Given the description of an element on the screen output the (x, y) to click on. 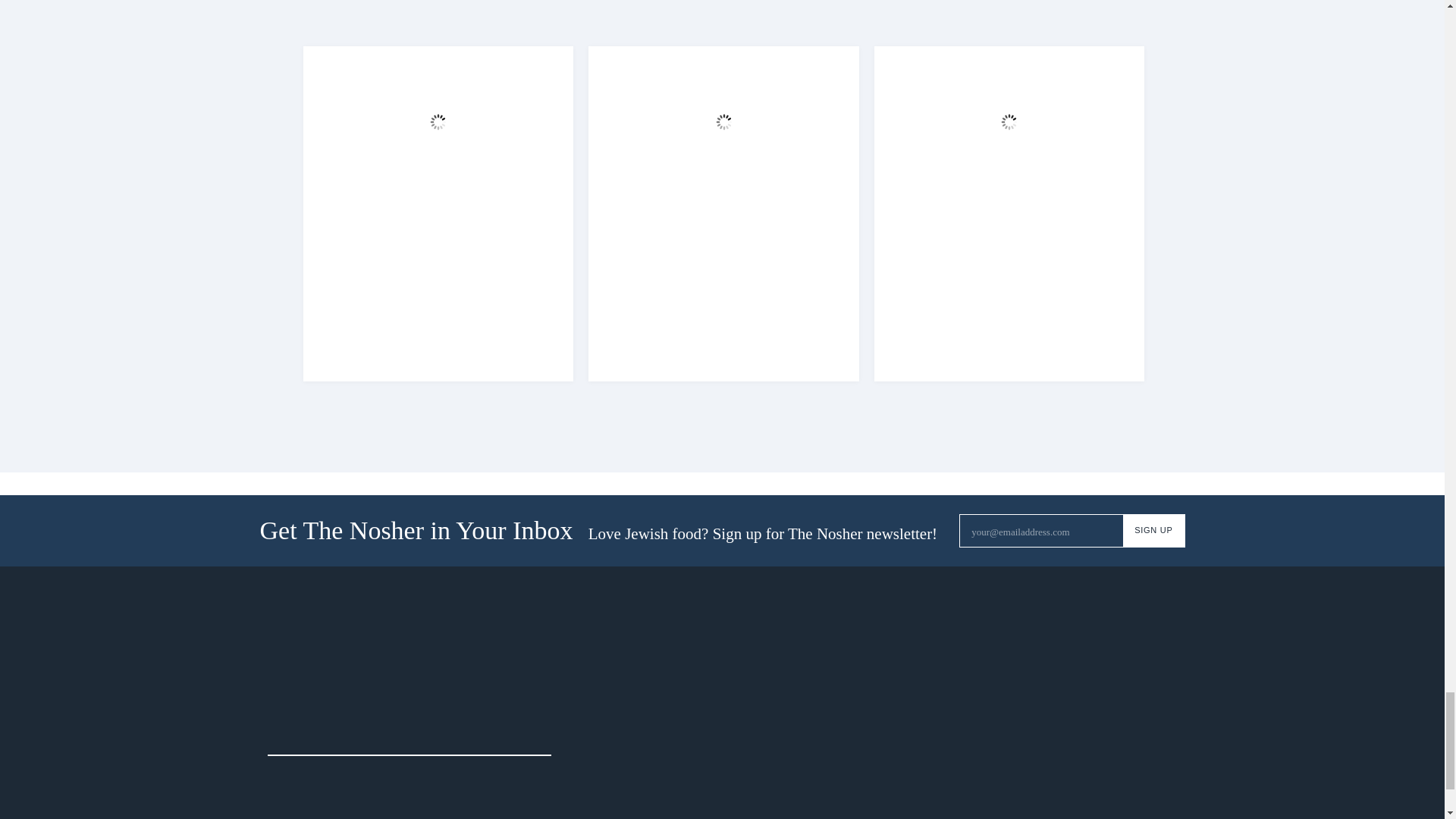
SIGN UP (1152, 531)
